Given the description of an element on the screen output the (x, y) to click on. 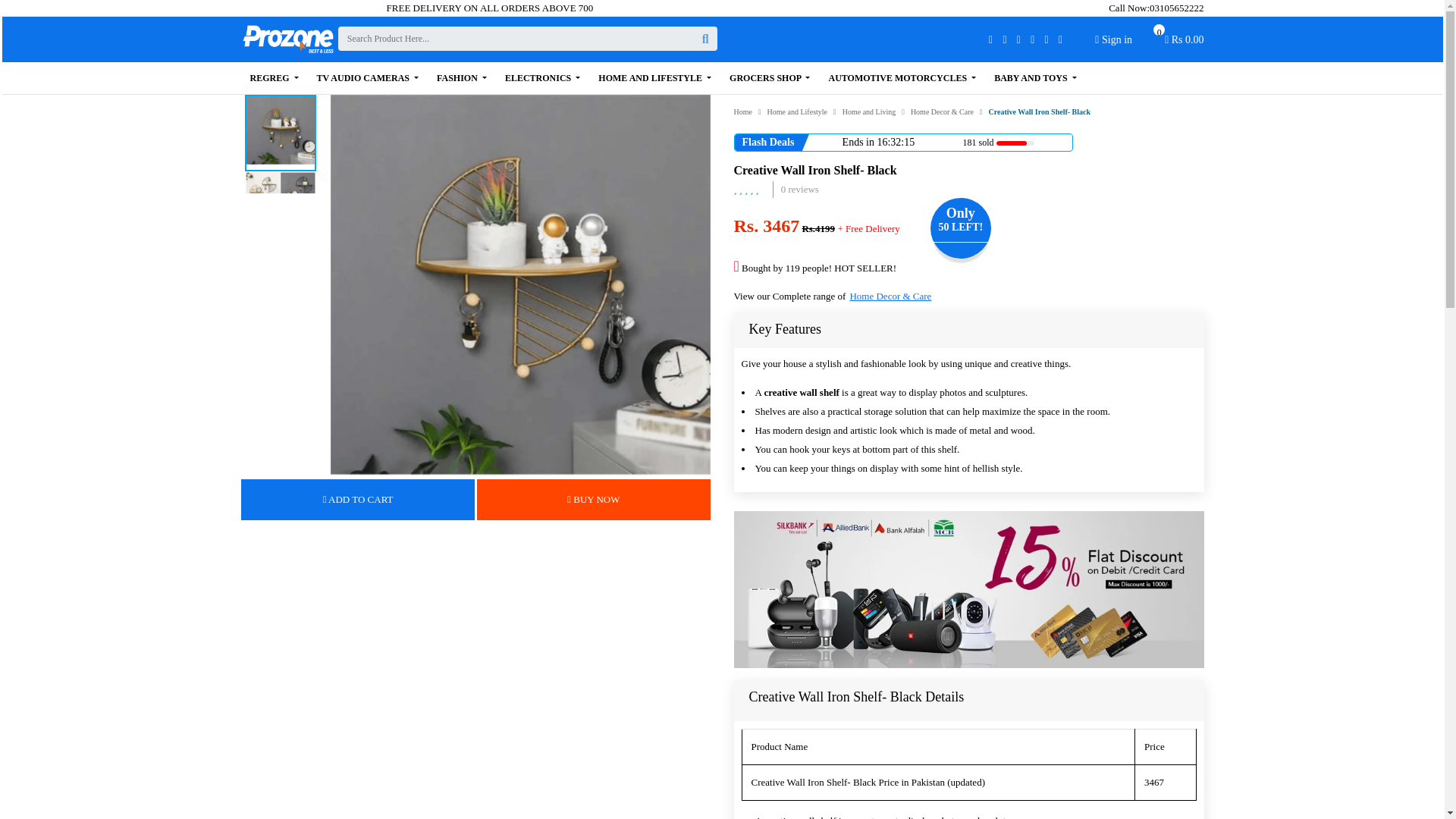
TV AUDIO CAMERAS (367, 78)
Sign in (1113, 39)
03105652222 (1184, 42)
REGREG (1177, 7)
FASHION (274, 78)
